Given the description of an element on the screen output the (x, y) to click on. 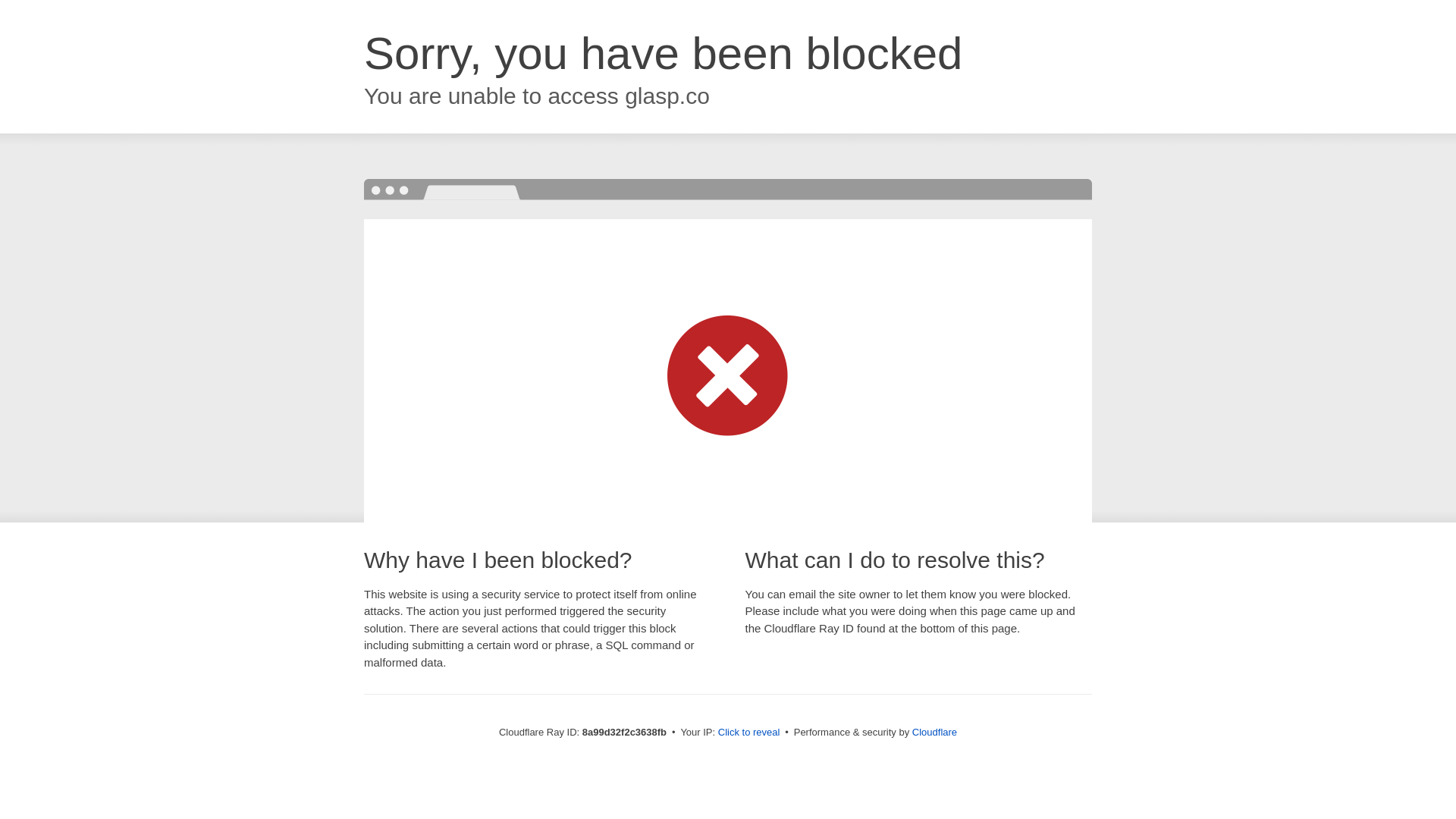
Cloudflare (934, 731)
Click to reveal (748, 732)
